Given the description of an element on the screen output the (x, y) to click on. 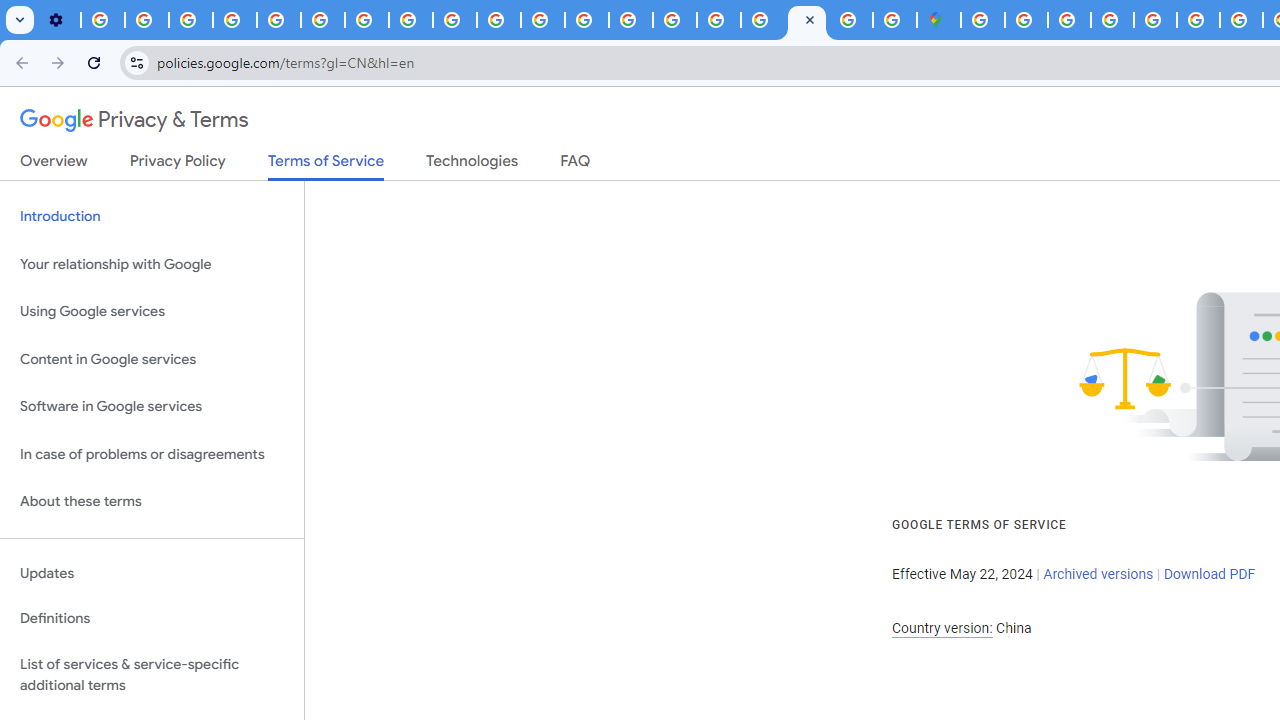
Sign in - Google Accounts (762, 20)
Overview (54, 165)
Privacy & Terms (134, 120)
Sign in - Google Accounts (1026, 20)
Privacy Policy (177, 165)
Terms and Conditions (1155, 20)
